Given the description of an element on the screen output the (x, y) to click on. 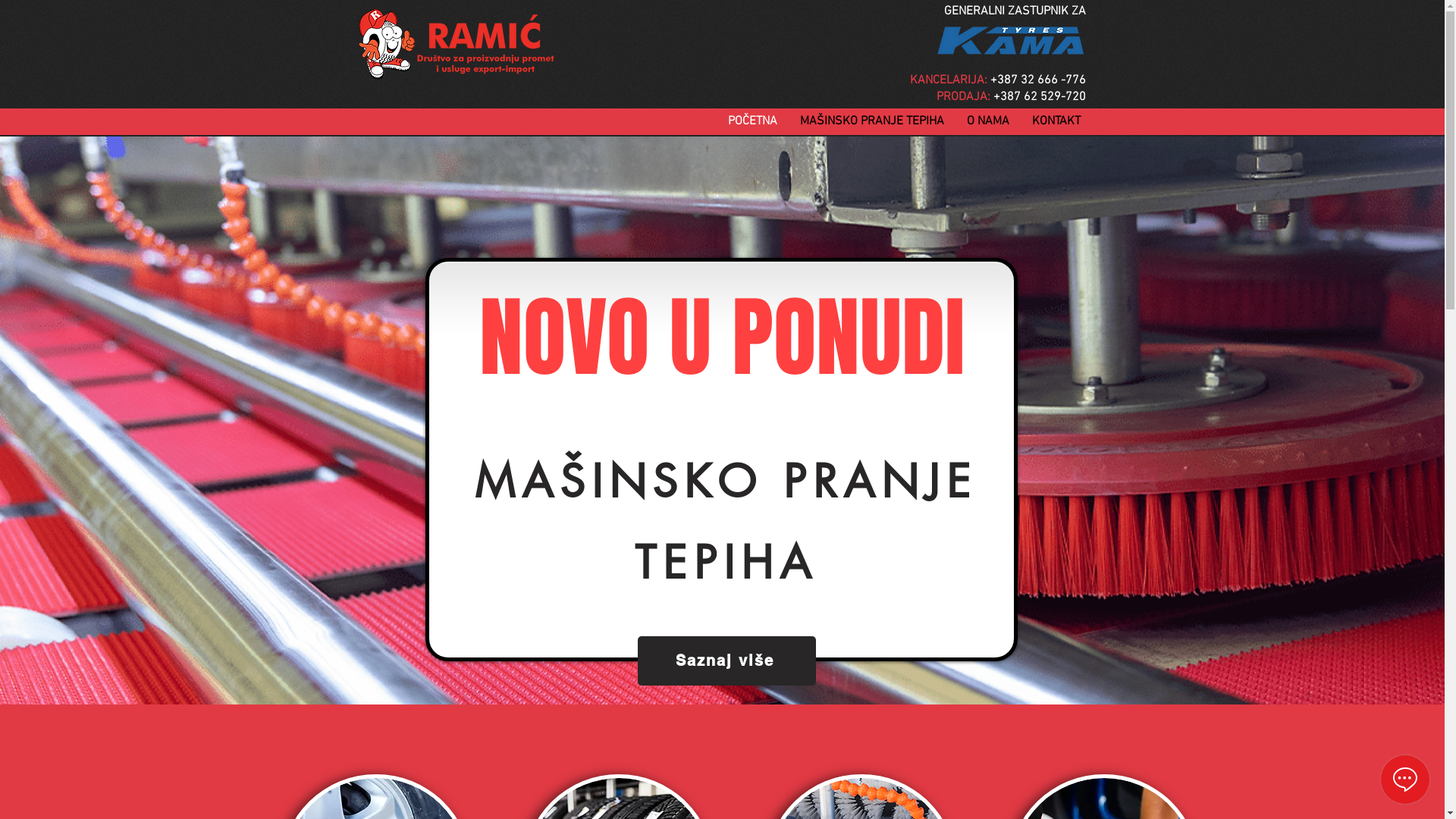
O NAMA Element type: text (987, 121)
KONTAKT Element type: text (1056, 121)
